Given the description of an element on the screen output the (x, y) to click on. 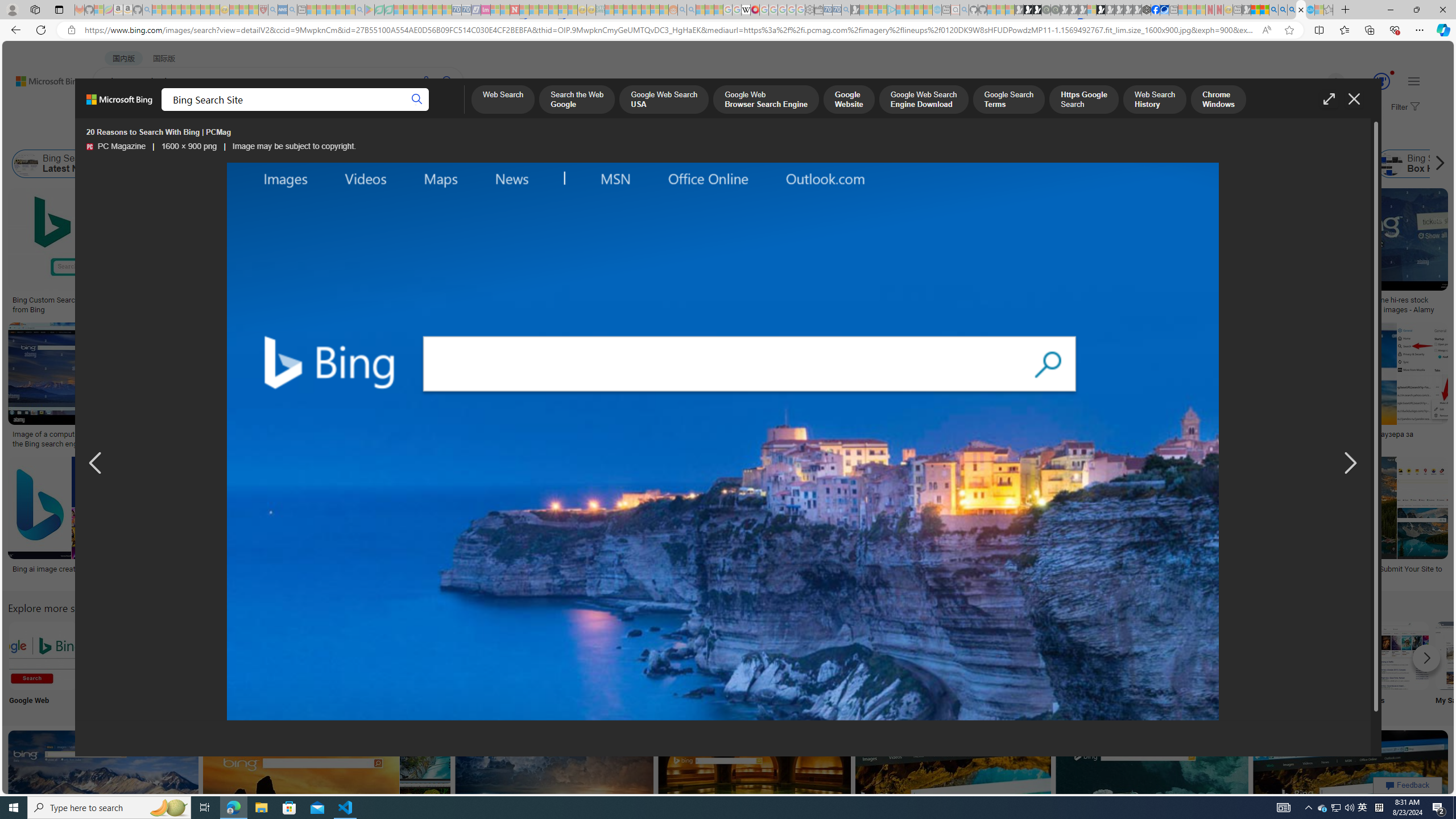
Bing Searches Today (285, 163)
Bing (366, 568)
MY BING (156, 111)
Future Focus Report 2024 - Sleeping (1054, 9)
Related ProductsT-ShirtsHoodiesMugs (805, 252)
ACADEMIC (360, 111)
Web Search (502, 100)
